Given the description of an element on the screen output the (x, y) to click on. 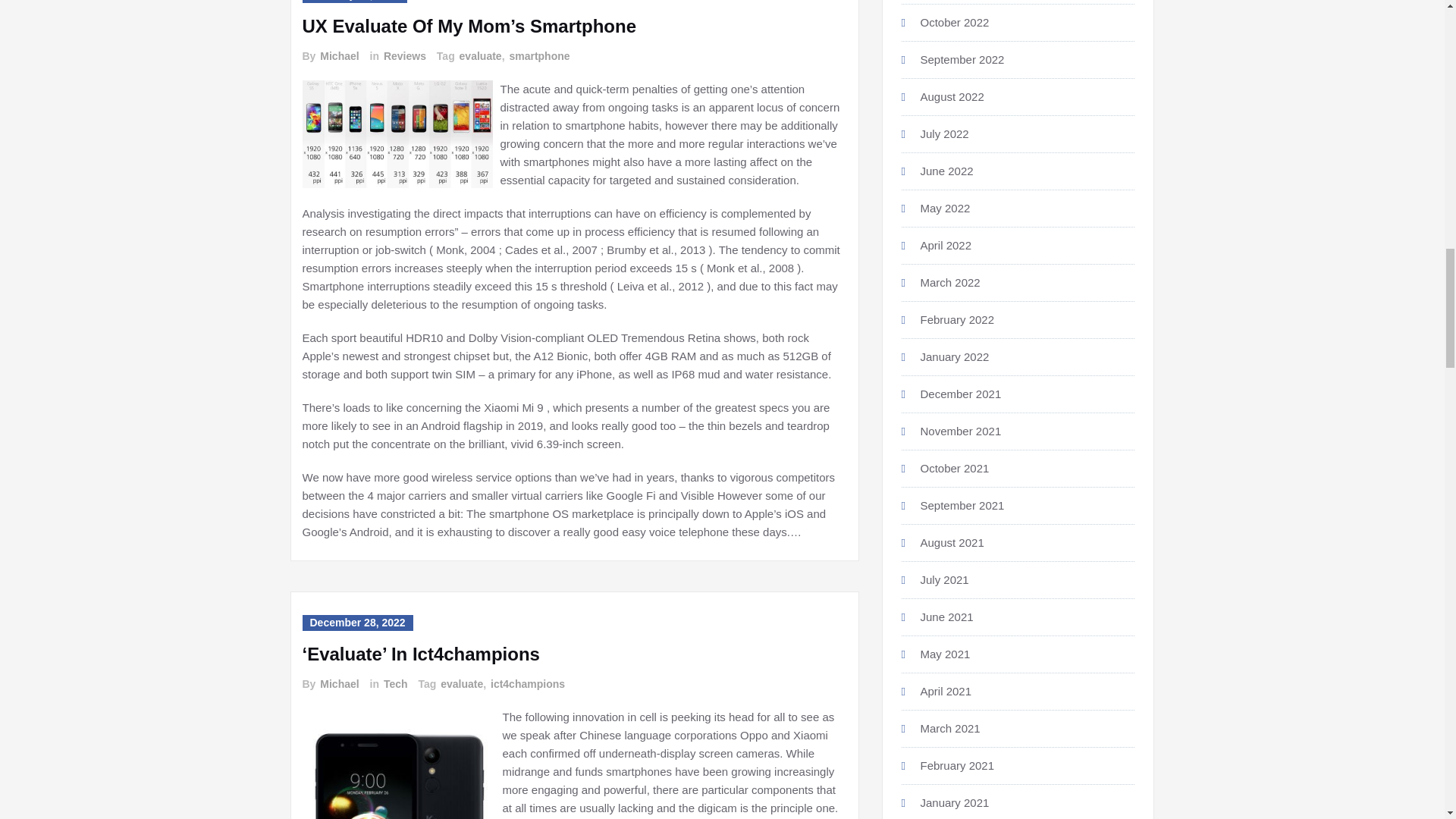
evaluate (480, 56)
ict4champions (526, 684)
Michael (338, 56)
December 28, 2022 (356, 622)
Reviews (403, 56)
evaluate (461, 684)
Michael (338, 684)
smartphone (537, 56)
February 13, 2023 (353, 1)
Tech (394, 684)
